Given the description of an element on the screen output the (x, y) to click on. 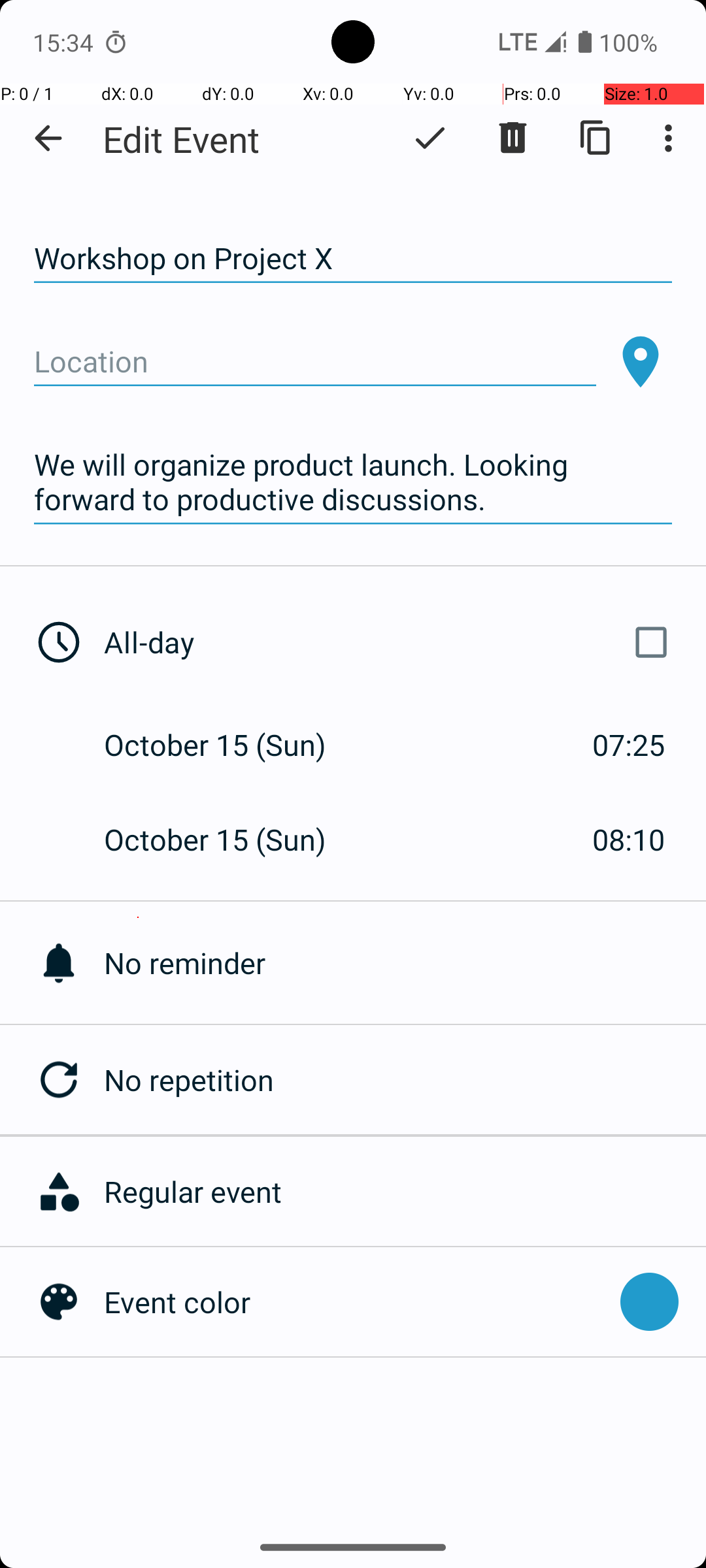
We will organize product launch. Looking forward to productive discussions. Element type: android.widget.EditText (352, 482)
07:25 Element type: android.widget.TextView (628, 744)
08:10 Element type: android.widget.TextView (628, 838)
